Given the description of an element on the screen output the (x, y) to click on. 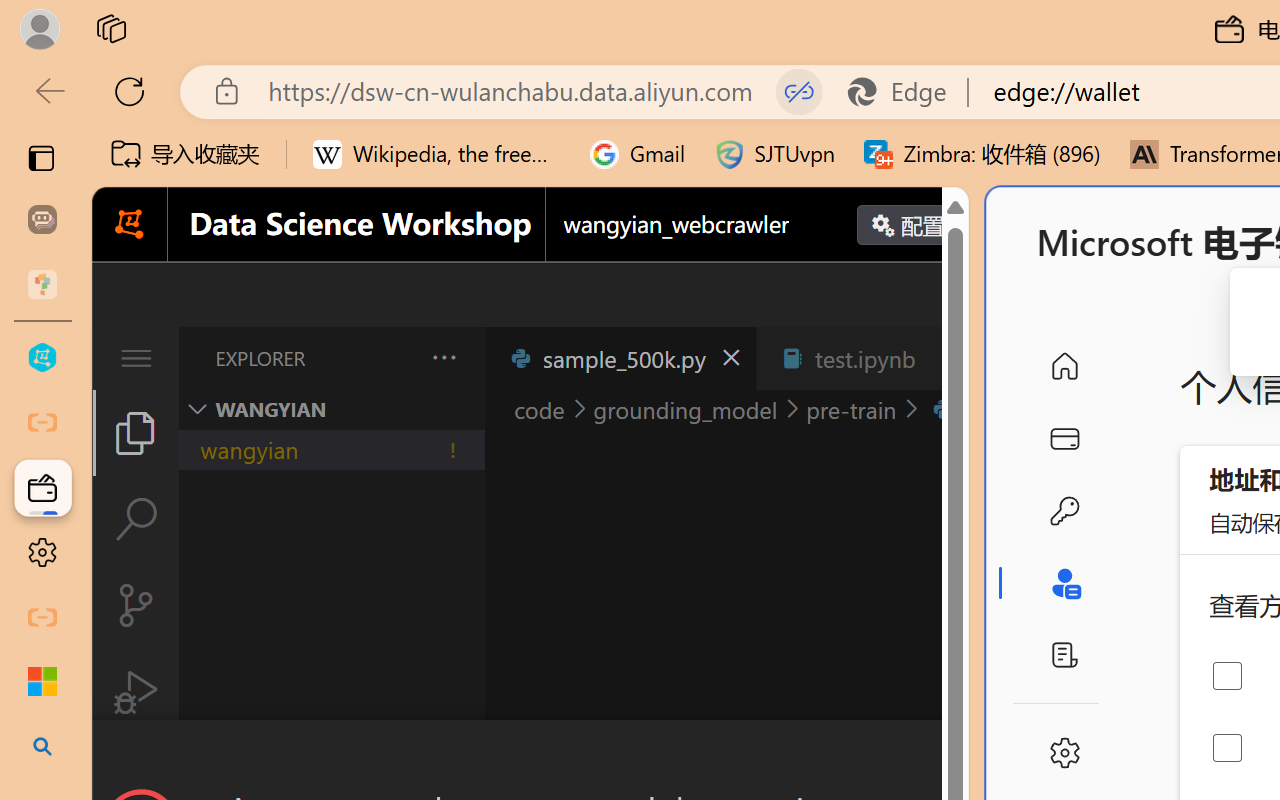
Explorer (Ctrl+Shift+E) (135, 432)
Wikipedia, the free encyclopedia (437, 154)
Close Dialog (959, 756)
Explorer Section: wangyian (331, 409)
sample_500k.py (619, 358)
